Given the description of an element on the screen output the (x, y) to click on. 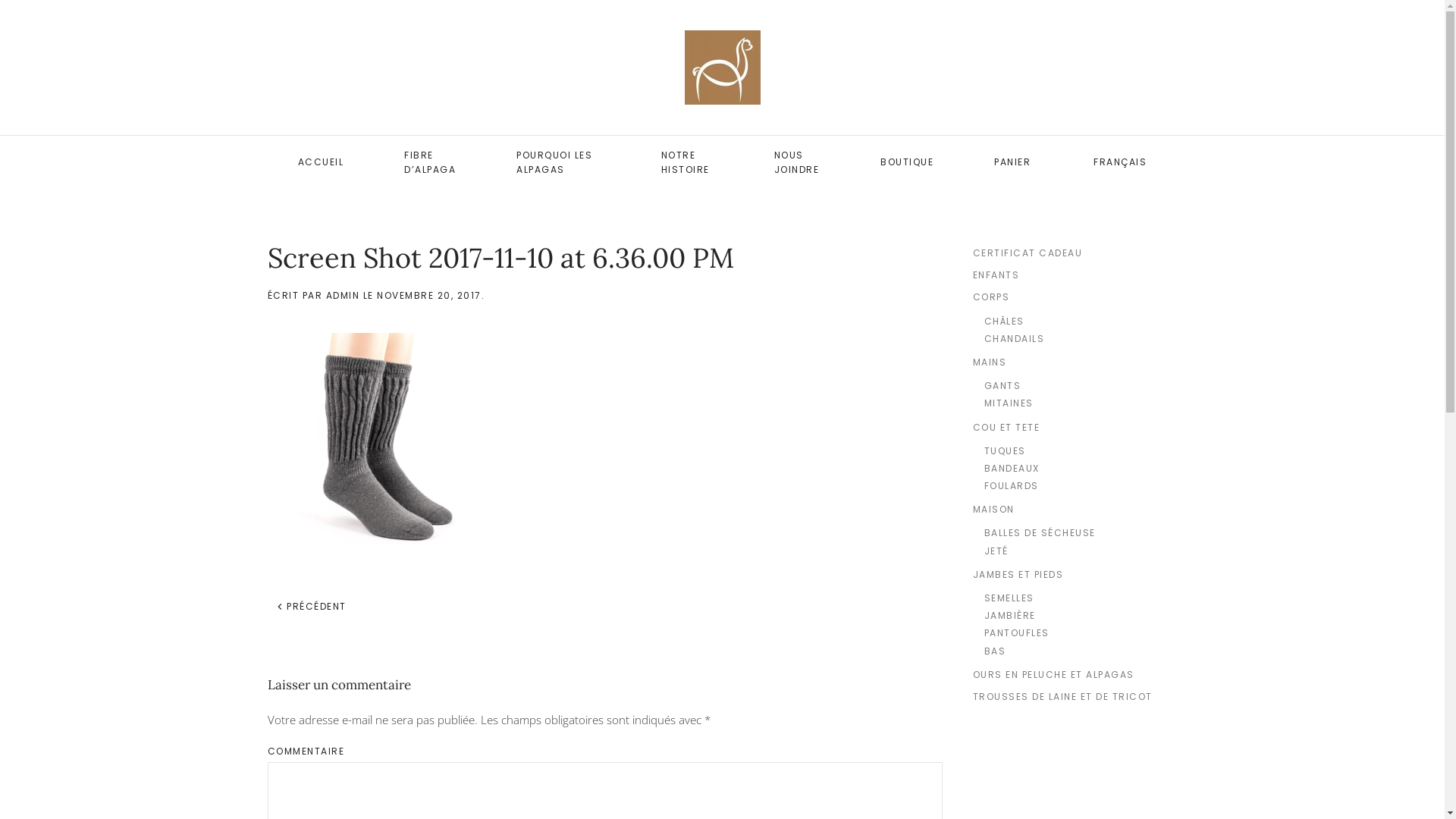
PANIER Element type: text (1013, 161)
MAISON Element type: text (1074, 509)
MAINS Element type: text (1074, 362)
FOULARDS Element type: text (1080, 485)
OURS EN PELUCHE ET ALPAGAS Element type: text (1074, 674)
TROUSSES DE LAINE ET DE TRICOT Element type: text (1074, 696)
SEMELLES Element type: text (1080, 597)
COU ET TETE Element type: text (1074, 426)
BOUTIQUE Element type: text (906, 161)
GANTS Element type: text (1080, 385)
JAMBES ET PIEDS Element type: text (1074, 574)
CHANDAILS Element type: text (1080, 338)
POURQUOI LES ALPAGAS Element type: text (558, 161)
ACCUEIL Element type: text (319, 161)
ADMIN Element type: text (343, 294)
NOTRE HISTOIRE Element type: text (686, 161)
CERTIFICAT CADEAU Element type: text (1074, 252)
NOUS JOINDRE Element type: text (796, 161)
TUQUES Element type: text (1080, 450)
CORPS Element type: text (1074, 296)
BANDEAUX Element type: text (1080, 467)
BAS Element type: text (1080, 650)
ENFANTS Element type: text (1074, 274)
MITAINES Element type: text (1080, 402)
PANTOUFLES Element type: text (1080, 632)
